Given the description of an element on the screen output the (x, y) to click on. 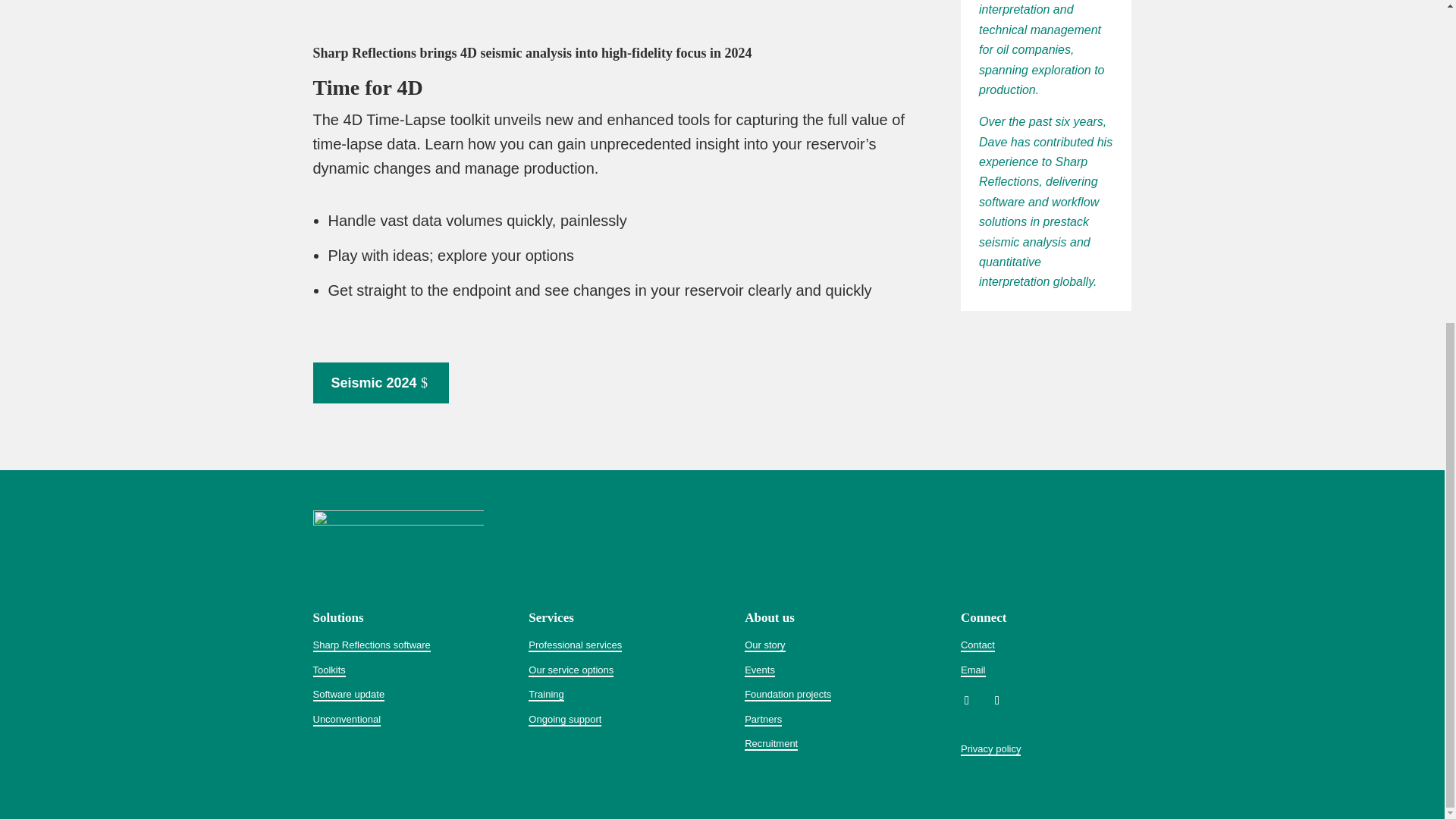
Our service options (570, 670)
Email (972, 670)
Partners (762, 719)
Foundation projects (787, 694)
Privacy policy (990, 748)
Professional services (574, 645)
Contact (977, 645)
Seismic 2024 (380, 383)
Software update (348, 694)
Training (545, 694)
Events (759, 670)
Follow on Vimeo (997, 700)
Unconventional (346, 719)
Sharp Reflections software (371, 645)
Our story (764, 645)
